Given the description of an element on the screen output the (x, y) to click on. 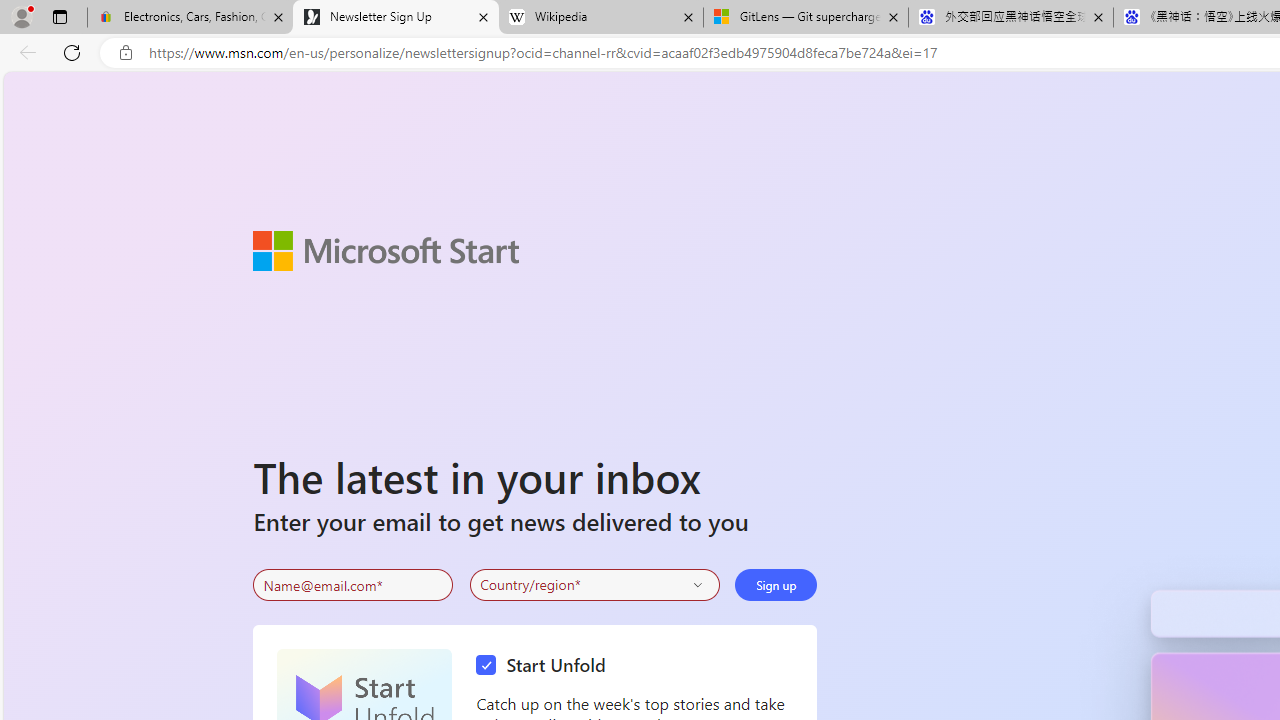
Enter your email (353, 585)
Newsletter Sign Up (395, 17)
Start Unfold (545, 665)
Sign up (775, 584)
